Given the description of an element on the screen output the (x, y) to click on. 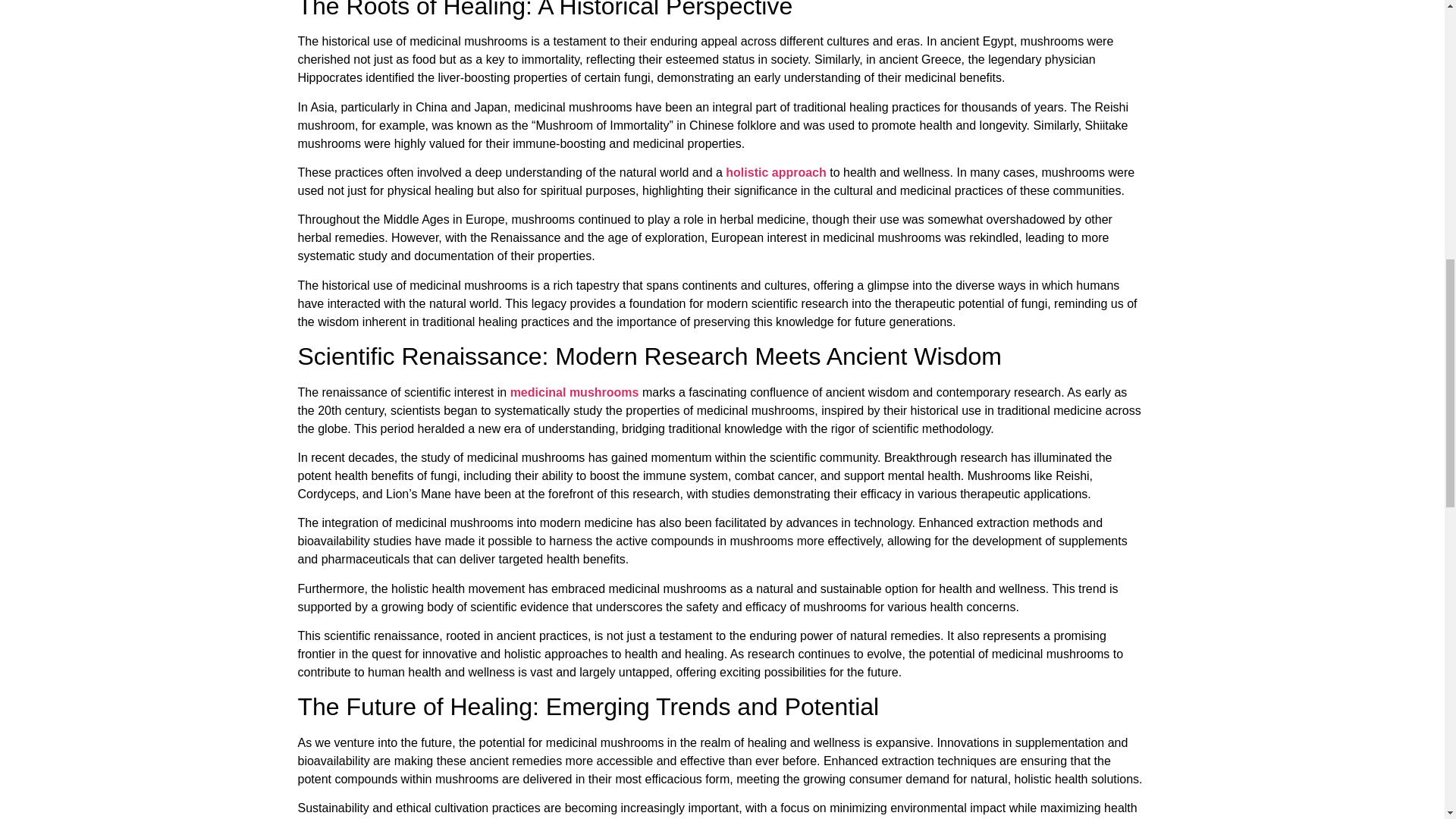
medicinal mushrooms (575, 391)
holistic approach (774, 172)
